Given the description of an element on the screen output the (x, y) to click on. 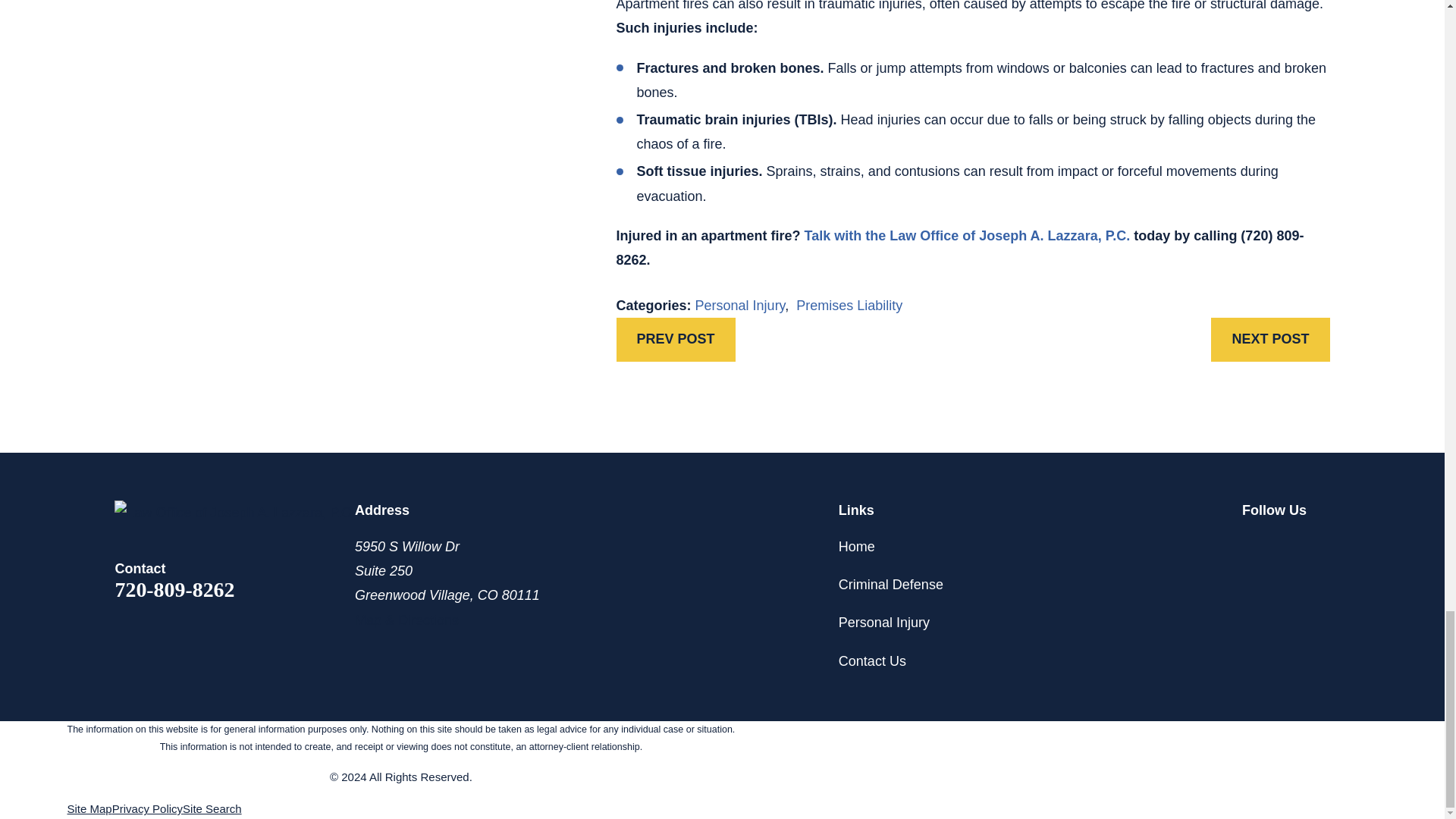
Twitter (1250, 543)
Facebook (1285, 543)
Home (235, 512)
Google Business Profile (1319, 543)
